Given the description of an element on the screen output the (x, y) to click on. 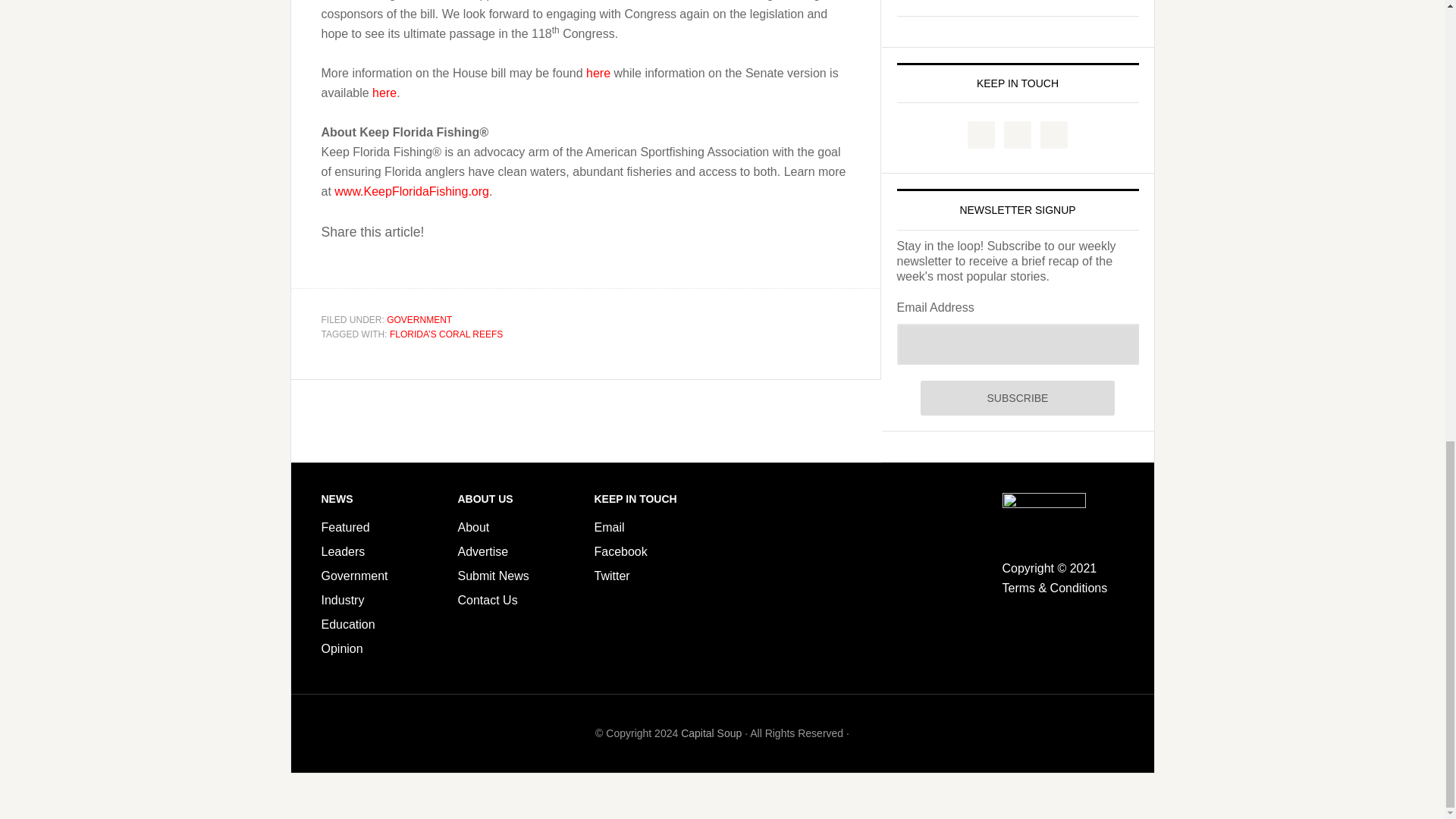
Leaders (343, 551)
Featured (345, 526)
here (384, 92)
Subscribe (1016, 397)
here (598, 72)
www.KeepFloridaFishing.org (411, 191)
Share on Facebook (338, 265)
Subscribe (1016, 397)
GOVERNMENT (419, 319)
Share on Twitter (376, 265)
